Given the description of an element on the screen output the (x, y) to click on. 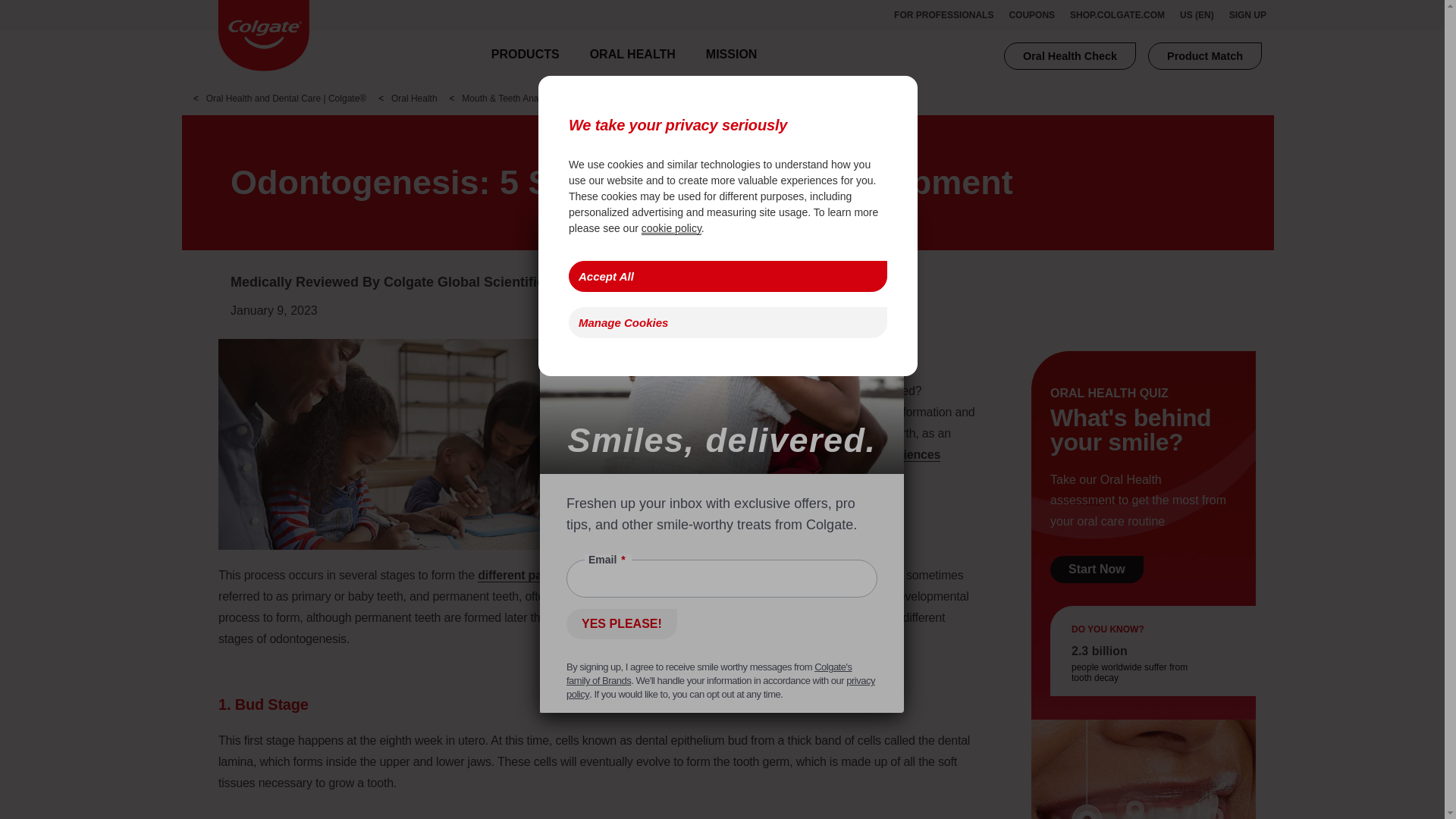
cookie policy (671, 228)
Accept All (727, 276)
Manage Cookies (727, 322)
YES PLEASE! (621, 624)
